Given the description of an element on the screen output the (x, y) to click on. 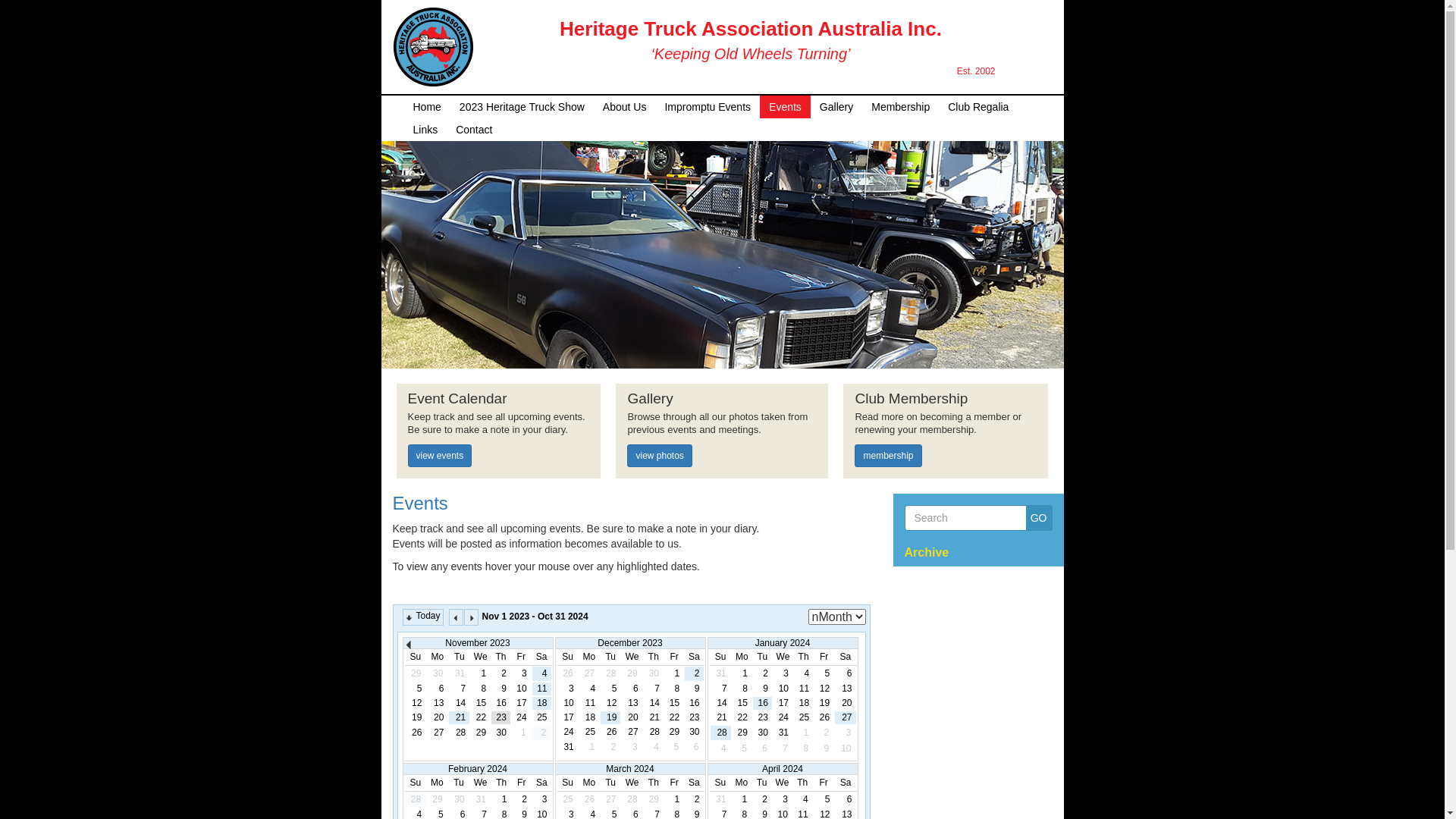
12 Element type: text (415, 703)
Contact Element type: text (473, 129)
2 Element type: text (521, 799)
22 Element type: text (480, 717)
Events Element type: text (420, 502)
view photos Element type: text (659, 455)
27 Element type: text (631, 731)
27 Element type: text (844, 717)
2 Element type: text (693, 673)
30 Element type: text (500, 732)
Club Regalia Element type: text (977, 106)
4 Element type: text (802, 799)
3 Element type: text (567, 688)
16 Element type: text (693, 703)
7 Element type: text (720, 688)
25 Element type: text (589, 731)
Events Element type: text (784, 106)
22 Element type: text (673, 717)
20 Element type: text (631, 717)
10 Element type: text (567, 703)
26 Element type: text (823, 717)
24 Element type: text (521, 717)
12 Element type: text (610, 703)
21 Element type: text (720, 717)
2 Element type: text (762, 673)
30 Element type: text (693, 731)
2 Element type: text (761, 799)
17 Element type: text (782, 703)
1 Element type: text (673, 673)
15 Element type: text (673, 703)
24 Element type: text (567, 731)
4 Element type: text (541, 673)
25 Element type: text (541, 717)
12 Element type: text (823, 688)
8 Element type: text (741, 688)
3 Element type: text (541, 799)
6 Element type: text (845, 799)
Links Element type: text (424, 129)
13 Element type: text (631, 703)
21 Element type: text (458, 717)
1 Element type: text (741, 673)
13 Element type: text (436, 703)
31 Element type: text (782, 732)
17 Element type: text (567, 717)
1 Element type: text (673, 799)
6 Element type: text (844, 673)
18 Element type: text (589, 717)
7 Element type: text (653, 688)
7 Element type: text (458, 688)
5 Element type: text (823, 673)
5 Element type: text (823, 799)
28 Element type: text (653, 731)
1 Element type: text (480, 673)
9 Element type: text (762, 688)
29 Element type: text (480, 732)
2023 Heritage Truck Show Element type: text (521, 106)
6 Element type: text (631, 688)
3 Element type: text (521, 673)
3 Element type: text (781, 799)
29 Element type: text (741, 732)
16 Element type: text (500, 703)
1 Element type: text (501, 799)
11 Element type: text (541, 688)
5 Element type: text (610, 688)
11 Element type: text (803, 688)
2 Element type: text (500, 673)
9 Element type: text (500, 688)
10 Element type: text (521, 688)
30 Element type: text (762, 732)
Prev Element type: text (411, 645)
28 Element type: text (720, 732)
23 Element type: text (762, 717)
8 Element type: text (673, 688)
19 Element type: text (823, 703)
10 Element type: text (782, 688)
14 Element type: text (653, 703)
Home Element type: text (426, 106)
18 Element type: text (803, 703)
15 Element type: text (741, 703)
23 Element type: text (693, 717)
6 Element type: text (436, 688)
21 Element type: text (653, 717)
1 Element type: text (740, 799)
29 Element type: text (673, 731)
28 Element type: text (458, 732)
13 Element type: text (844, 688)
8 Element type: text (480, 688)
Prev Element type: hover (455, 616)
17 Element type: text (521, 703)
27 Element type: text (436, 732)
20 Element type: text (436, 717)
20 Element type: text (844, 703)
22 Element type: text (741, 717)
16 Element type: text (762, 703)
14 Element type: text (720, 703)
26 Element type: text (610, 731)
2 Element type: text (693, 799)
9 Element type: text (693, 688)
18 Element type: text (541, 703)
4 Element type: text (803, 673)
About Us Element type: text (624, 106)
5 Element type: text (415, 688)
Next Element type: hover (471, 616)
14 Element type: text (458, 703)
Gallery Element type: text (836, 106)
Search Element type: hover (964, 517)
24 Element type: text (782, 717)
26 Element type: text (415, 732)
19 Element type: text (610, 717)
15 Element type: text (480, 703)
Impromptu Events Element type: text (707, 106)
11 Element type: text (589, 703)
19 Element type: text (415, 717)
3 Element type: text (782, 673)
31 Element type: text (567, 747)
GO Element type: text (1039, 517)
Membership Element type: text (900, 106)
membership Element type: text (887, 455)
view events Element type: text (439, 455)
23 Element type: text (500, 717)
4 Element type: text (589, 688)
25 Element type: text (803, 717)
